Given the description of an element on the screen output the (x, y) to click on. 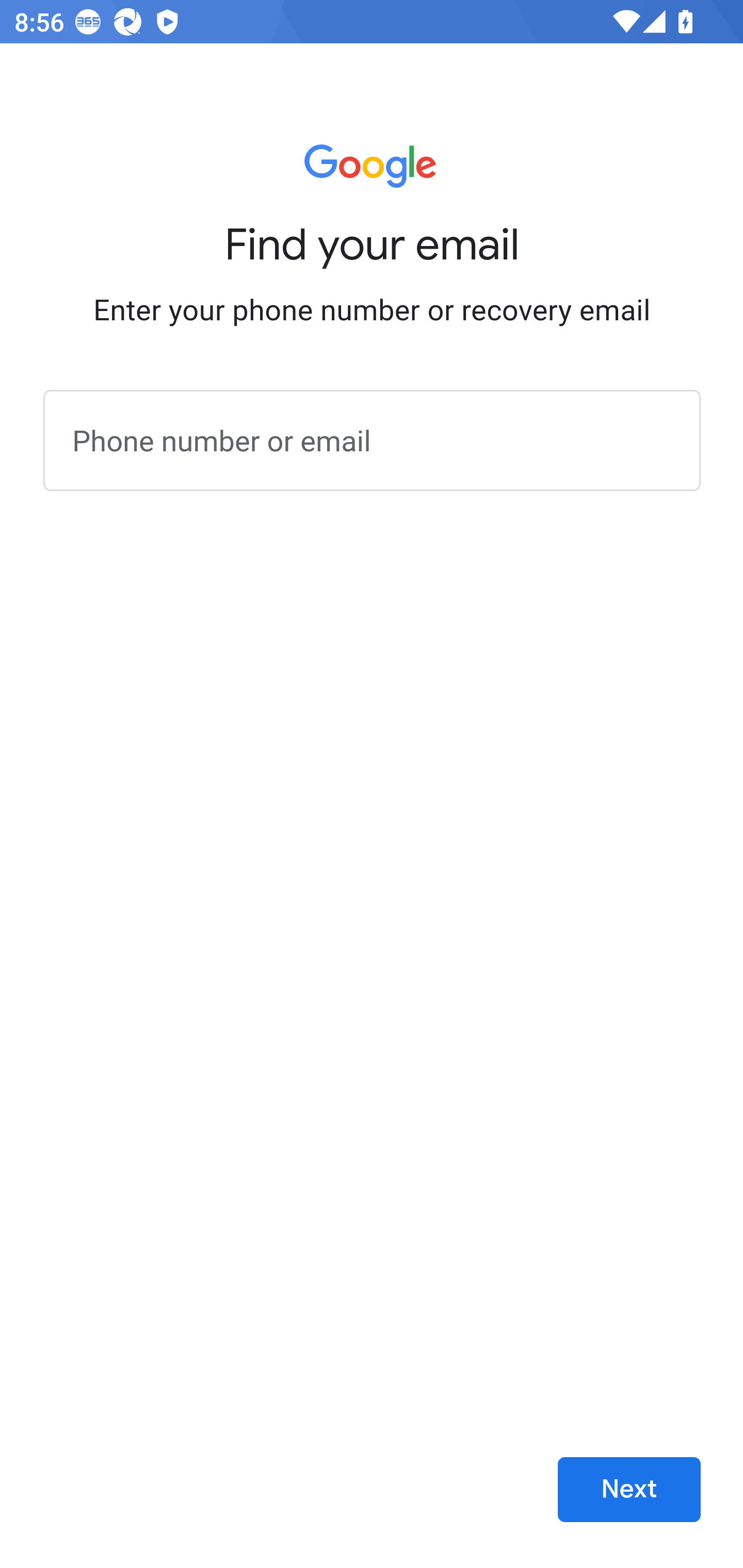
Next (629, 1490)
